Given the description of an element on the screen output the (x, y) to click on. 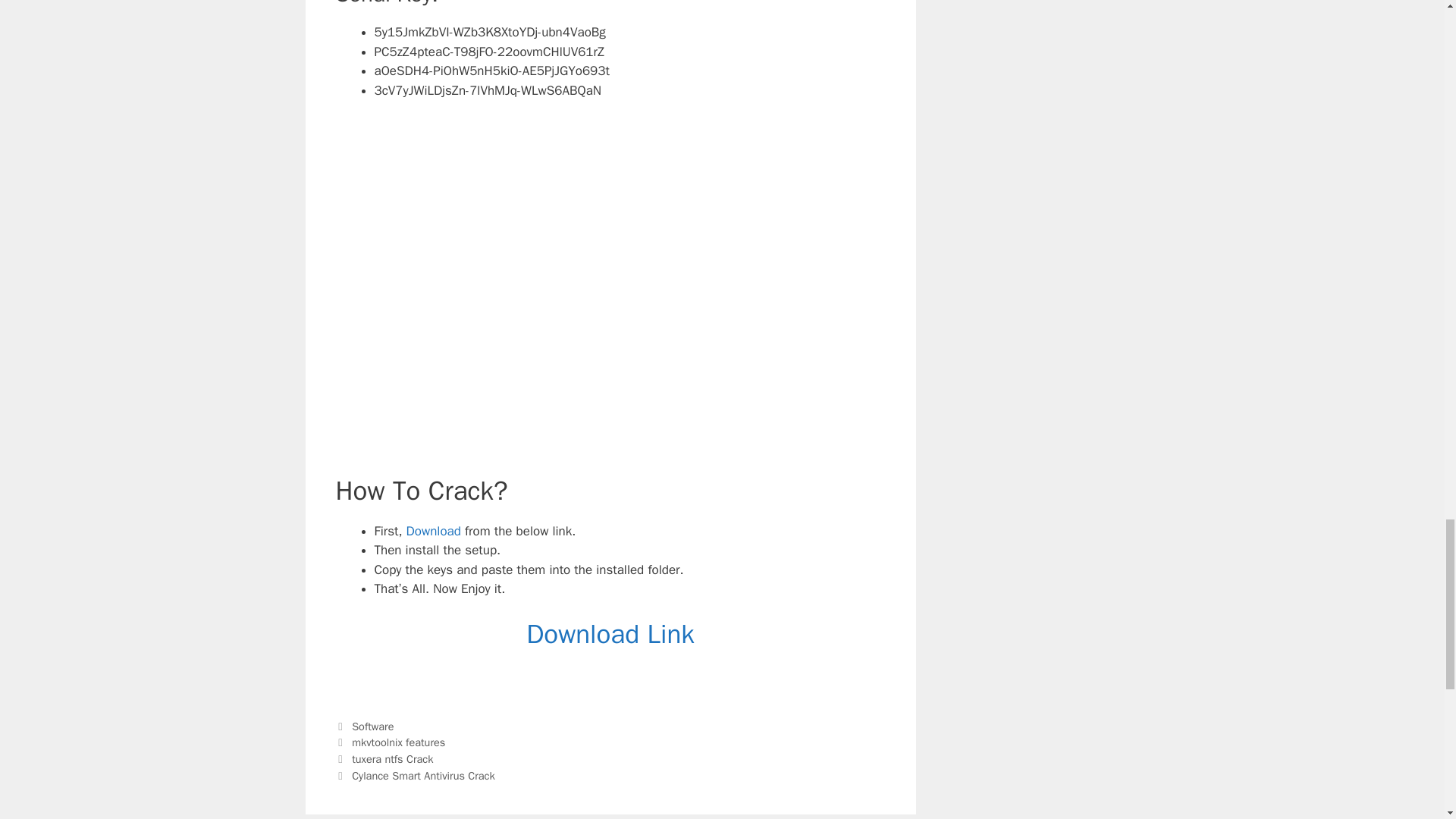
tuxera ntfs Crack (392, 758)
Download (433, 530)
Software (372, 726)
Download Link (609, 633)
Cylance Smart Antivirus Crack (423, 775)
mkvtoolnix features (398, 742)
